Given the description of an element on the screen output the (x, y) to click on. 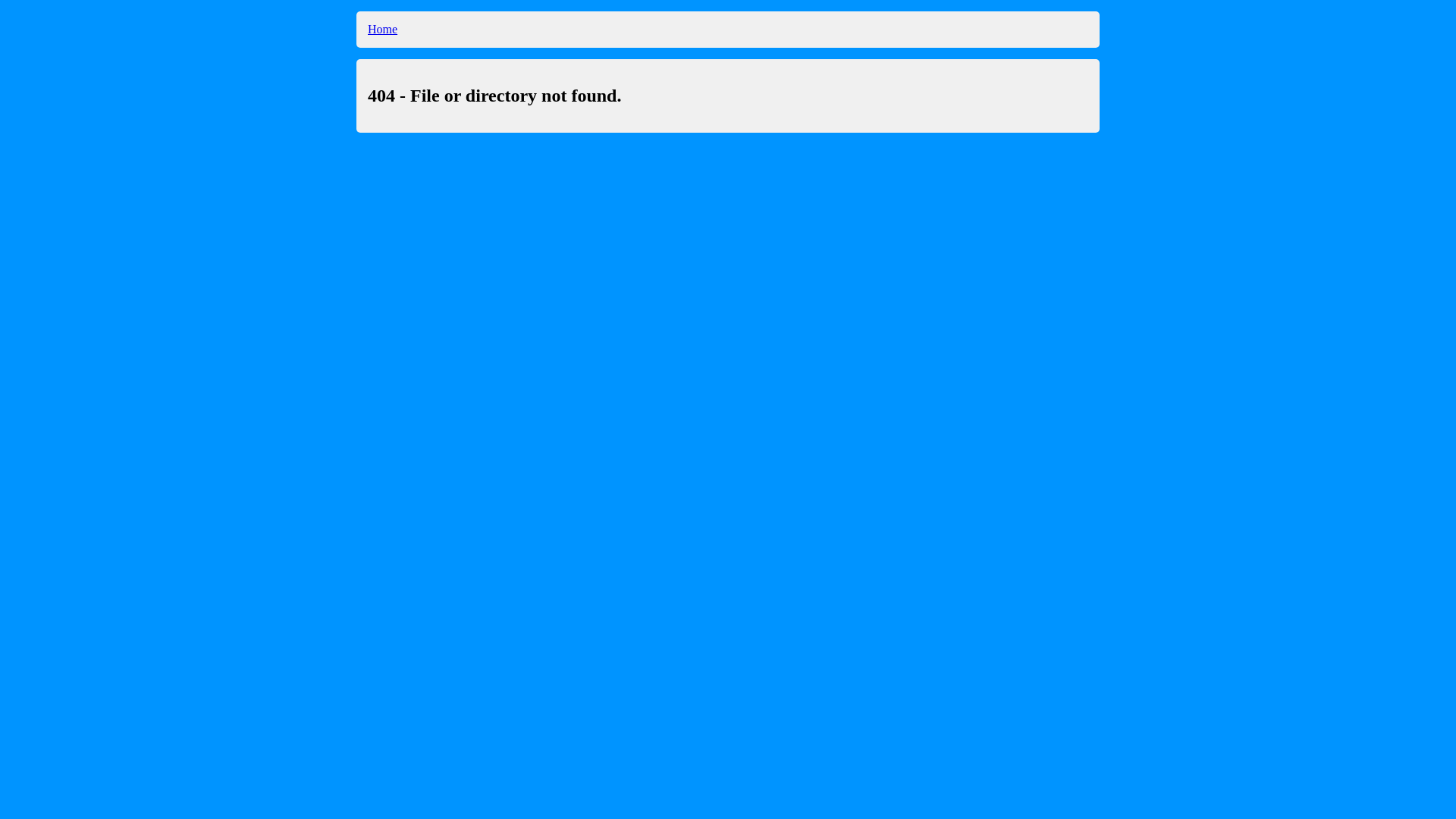
Home Element type: text (382, 28)
